Given the description of an element on the screen output the (x, y) to click on. 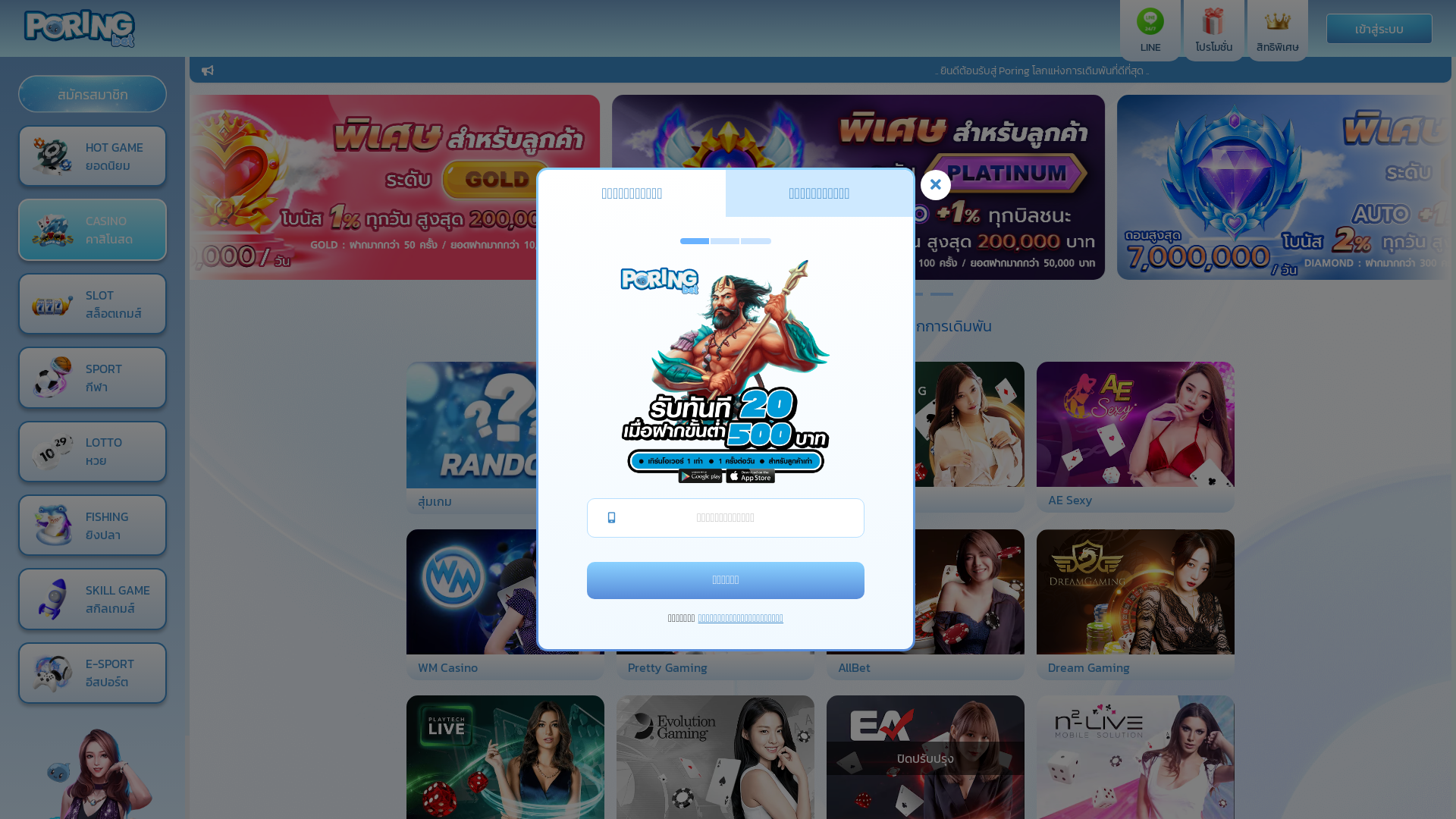
7 Element type: text (880, 293)
1 Element type: text (698, 293)
9 Element type: text (941, 293)
4 Element type: text (789, 293)
5 Element type: text (820, 293)
6 Element type: text (850, 293)
8 Element type: text (911, 293)
3 Element type: text (759, 293)
2 Element type: text (729, 293)
